Given the description of an element on the screen output the (x, y) to click on. 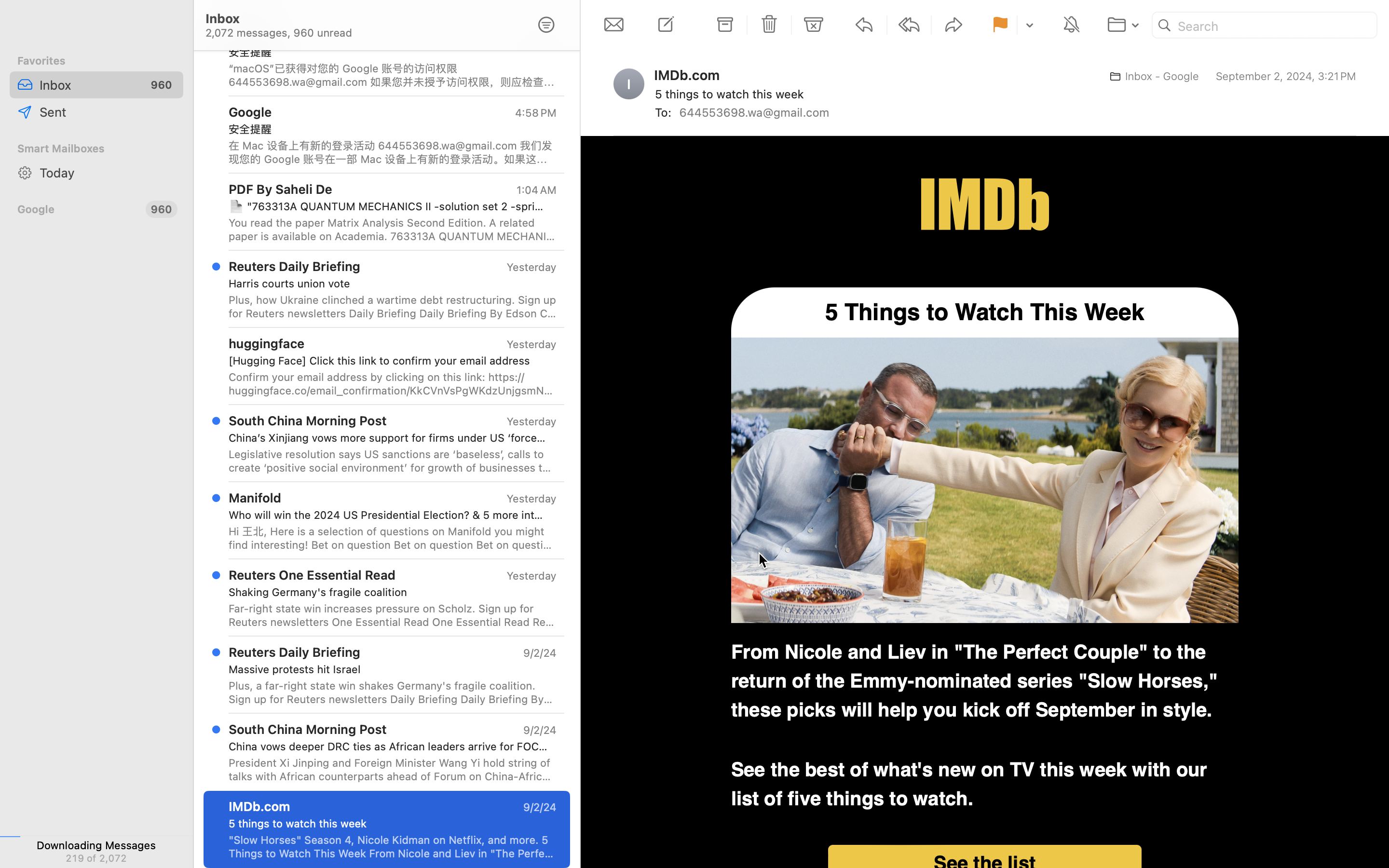
Google Element type: AXStaticText (77, 209)
Favorites Element type: AXStaticText (96, 60)
Shaking Germany's fragile coalition Element type: AXStaticText (388, 591)
Reuters One Essential Read Element type: AXStaticText (311, 574)
IMDb.com Element type: AXStaticText (691, 74)
